Given the description of an element on the screen output the (x, y) to click on. 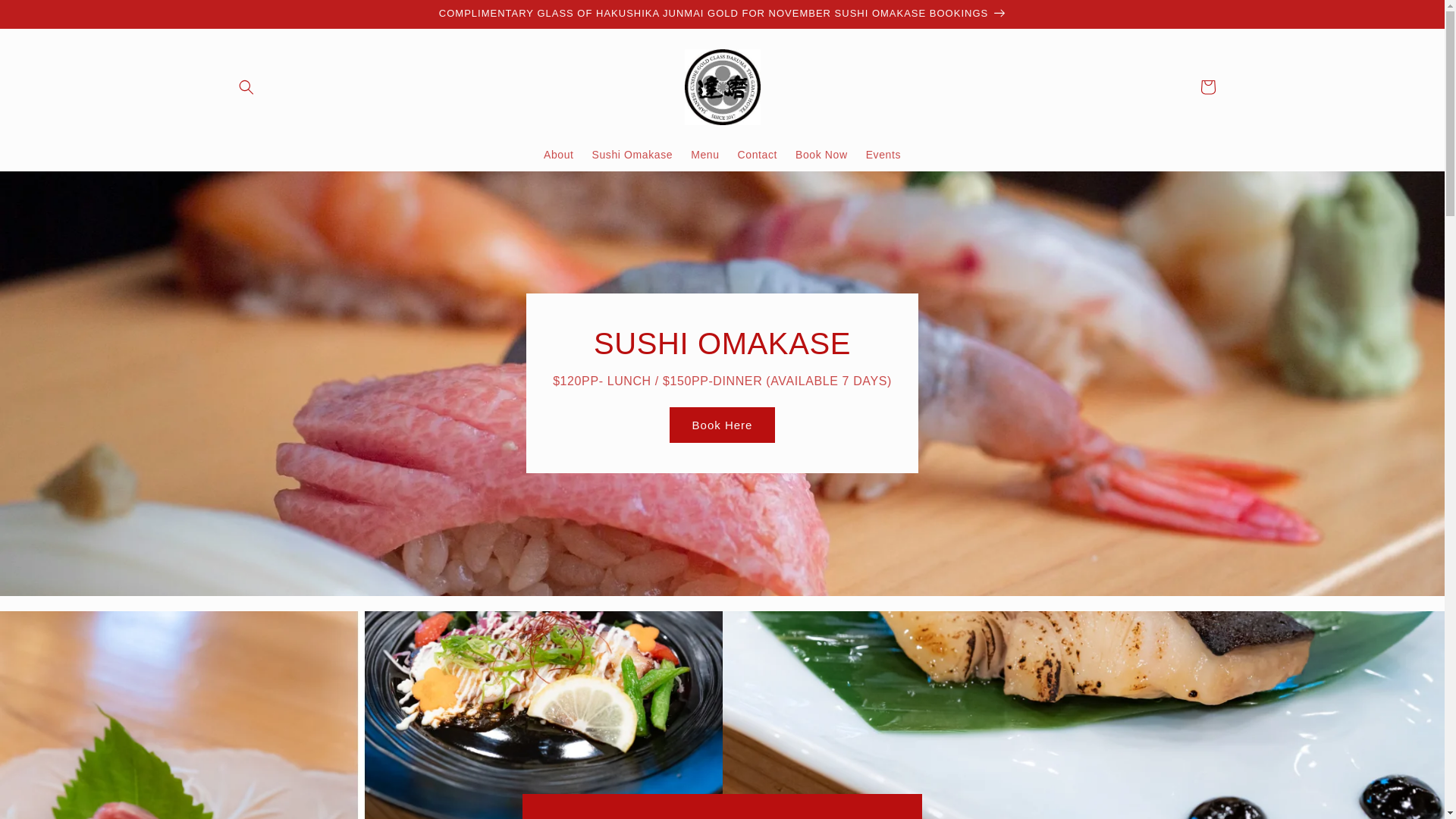
Contact Element type: text (757, 154)
Cart Element type: text (1206, 86)
Events Element type: text (883, 154)
Sushi Omakase Element type: text (632, 154)
Book Now Element type: text (821, 154)
Book Here Element type: text (722, 424)
Menu Element type: text (704, 154)
About Element type: text (558, 154)
